Given the description of an element on the screen output the (x, y) to click on. 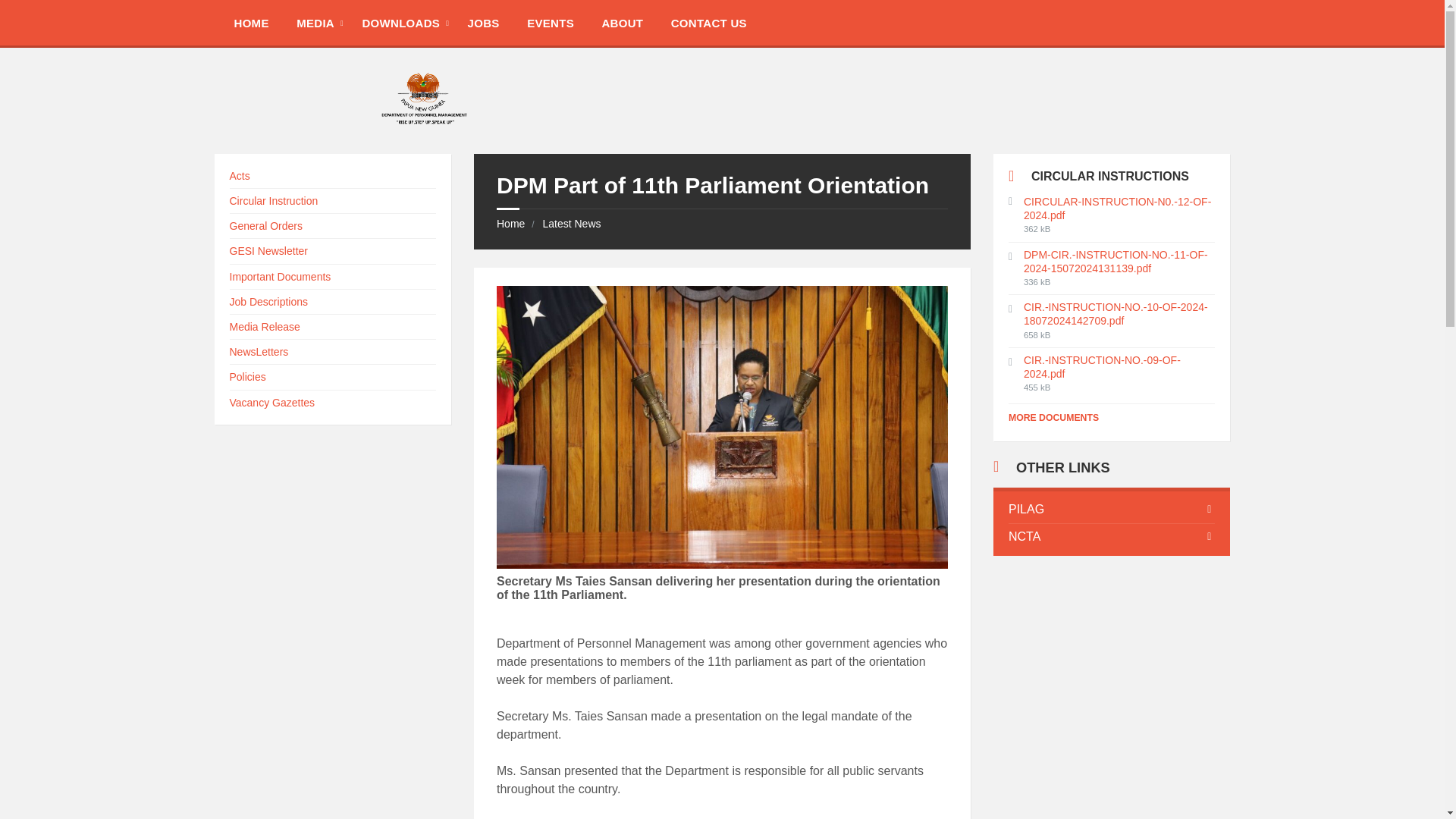
MEDIA (314, 22)
Latest News (570, 223)
Important Documents (279, 276)
EVENTS (550, 22)
CONTACT US (708, 22)
DOWNLOADS (400, 22)
Home (510, 223)
General Orders (264, 225)
GESI Newsletter (267, 250)
Acts (238, 175)
HOME (251, 22)
JOBS (483, 22)
ABOUT (622, 22)
Circular Instruction (272, 200)
